Given the description of an element on the screen output the (x, y) to click on. 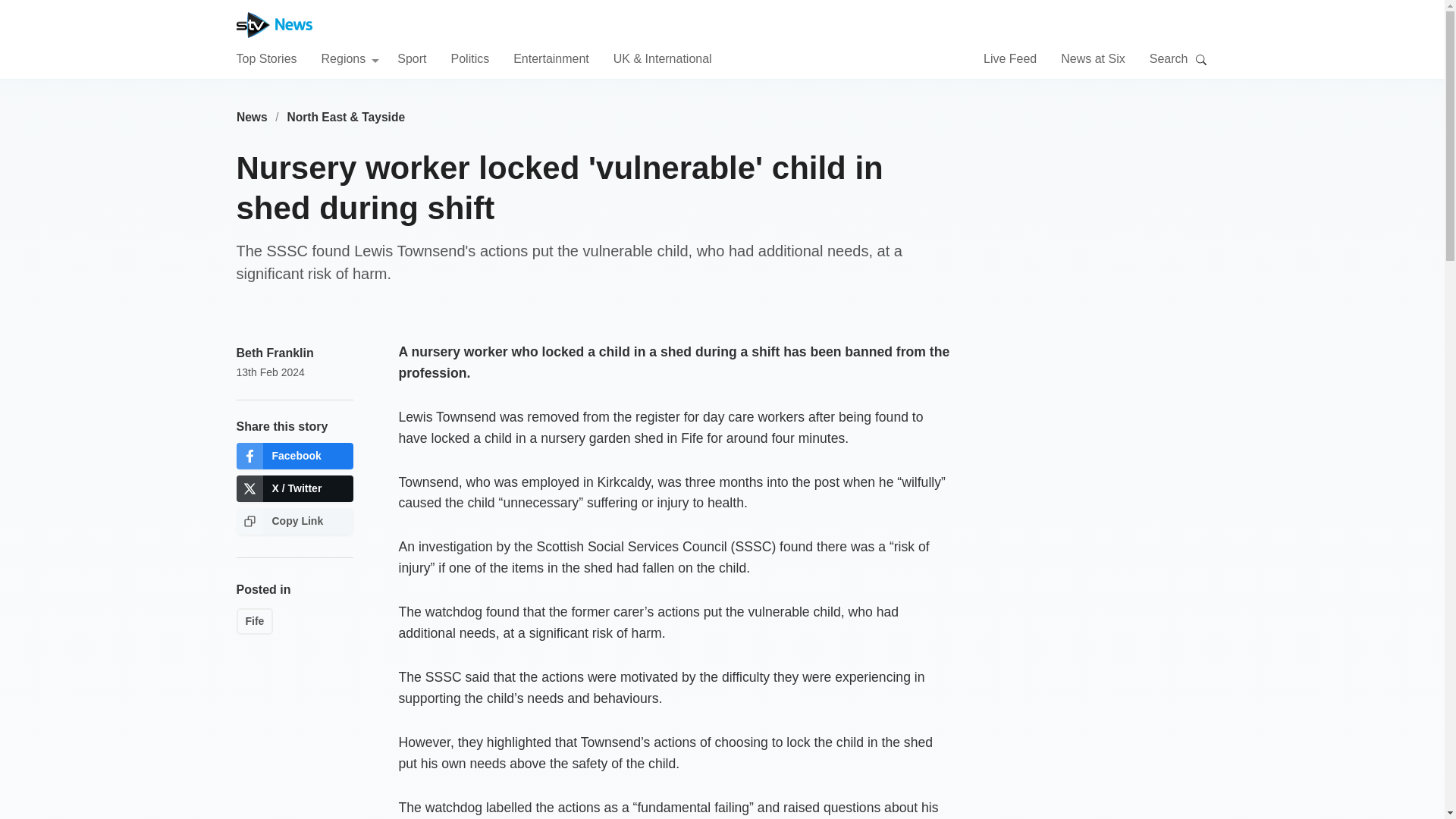
Beth Franklin (274, 352)
Live Feed (1010, 57)
Politics (469, 57)
News at Six (1092, 57)
Regions (350, 57)
Search (1201, 59)
Top Stories (266, 57)
News (252, 116)
Entertainment (551, 57)
Facebook (294, 456)
